Given the description of an element on the screen output the (x, y) to click on. 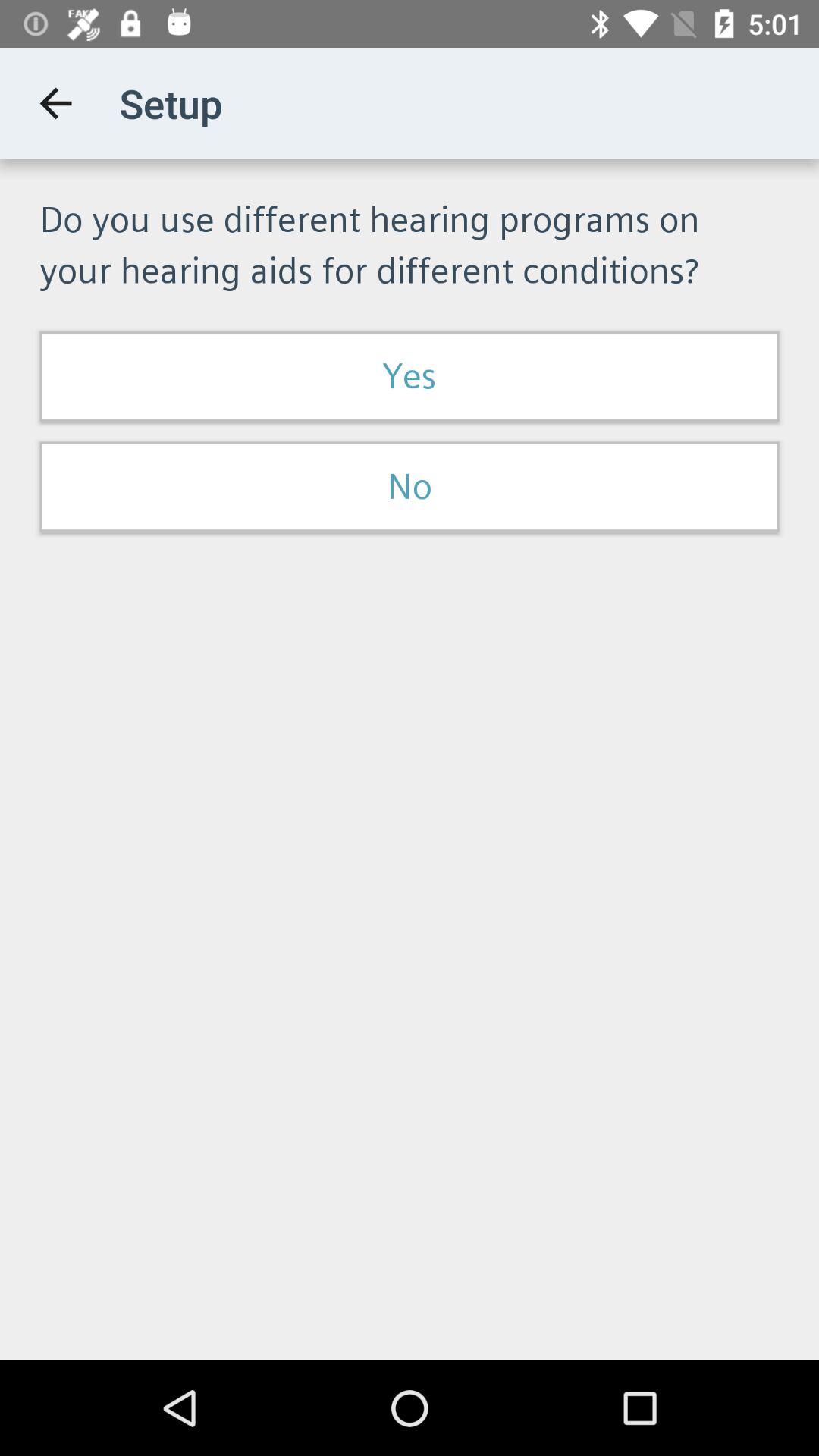
turn off item above no (409, 376)
